Given the description of an element on the screen output the (x, y) to click on. 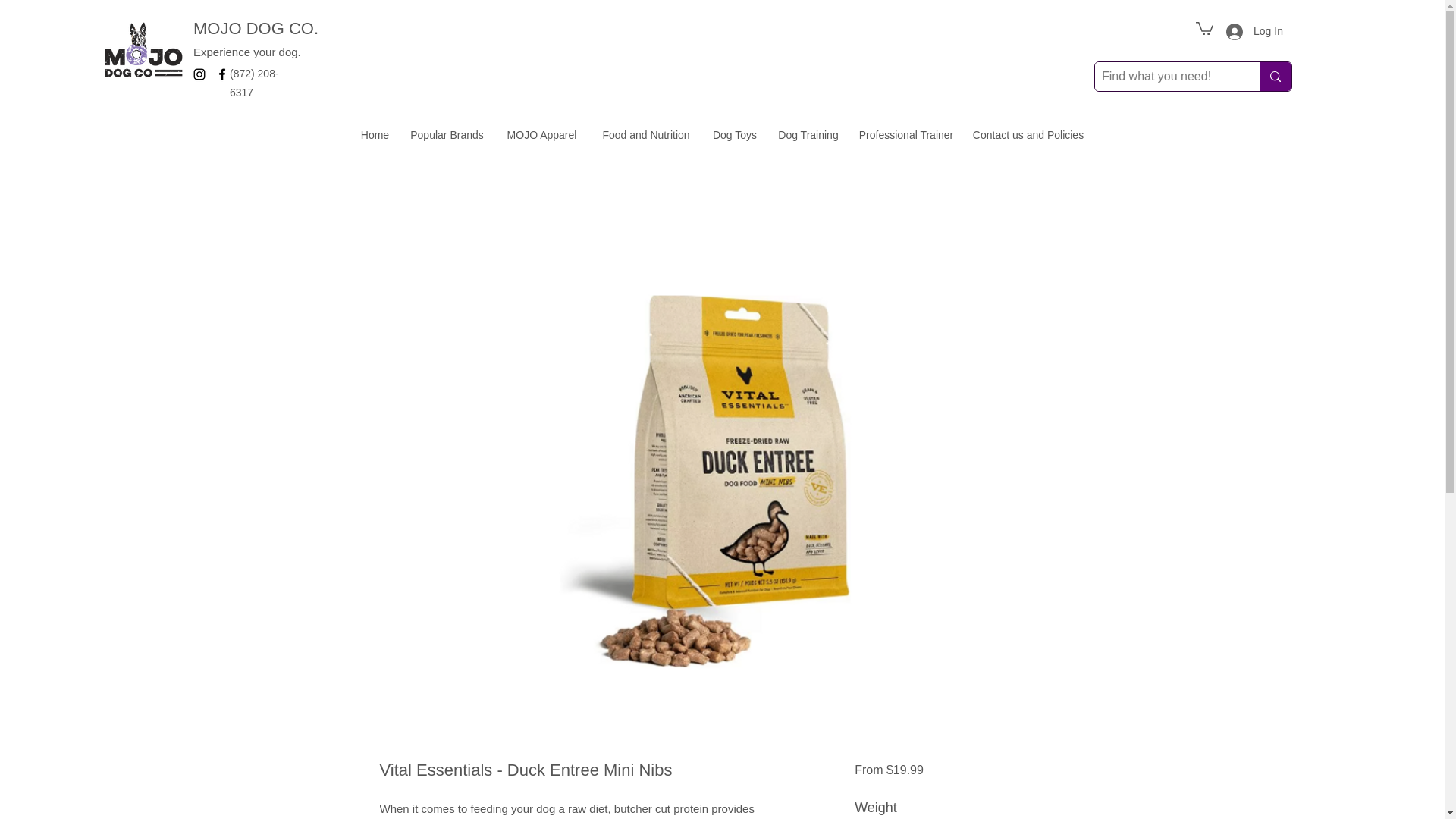
Dog Toys (734, 134)
MOJO Apparel (542, 134)
Professional Trainer (905, 134)
Dog Training (808, 134)
Log In (1245, 31)
Contact us and Policies (1028, 134)
Food and Nutrition (646, 134)
Home (375, 134)
